Given the description of an element on the screen output the (x, y) to click on. 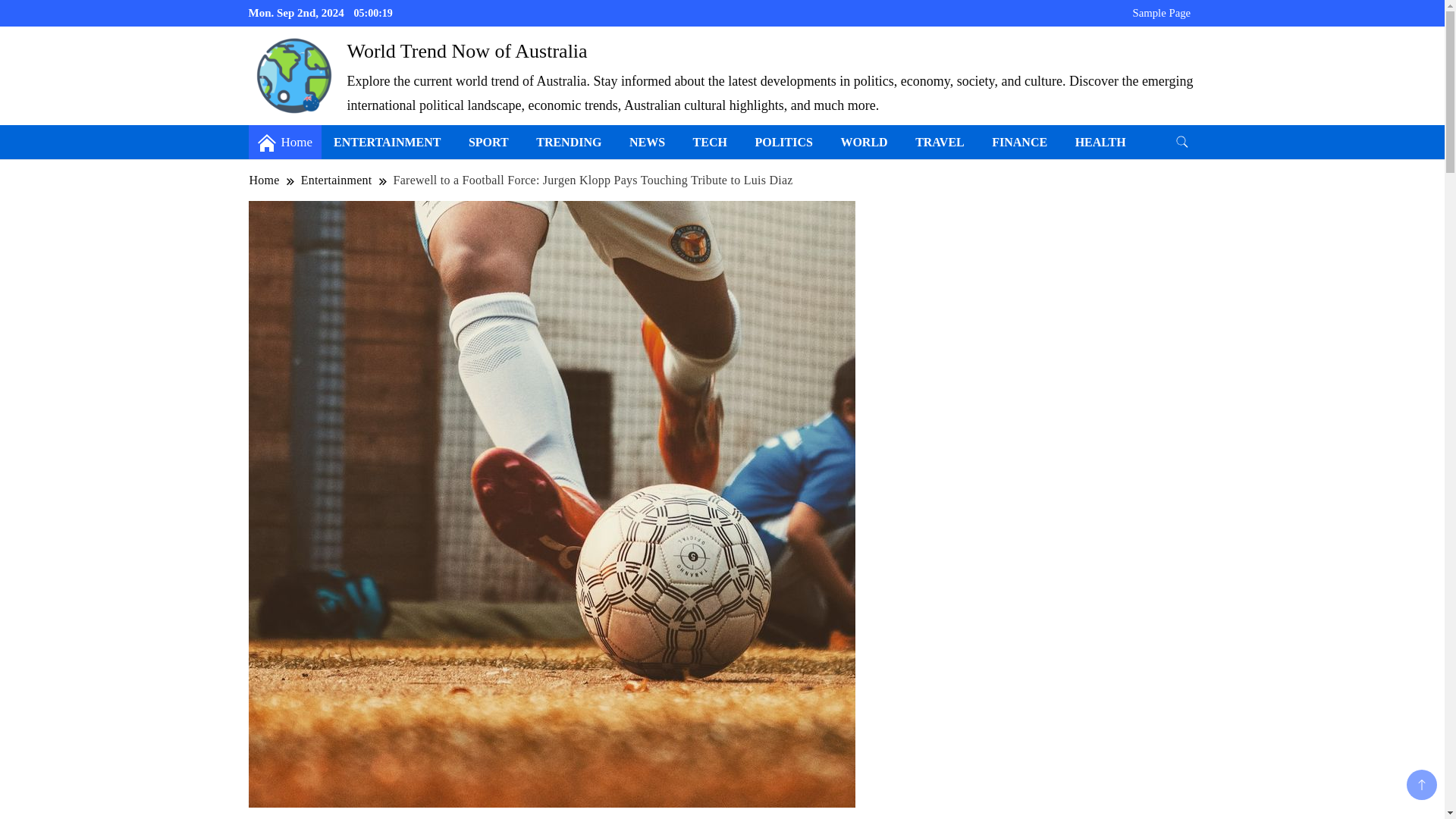
NEWS (647, 141)
SPORT (489, 141)
World Trend Now of Australia (467, 51)
Entertainment (335, 179)
TRAVEL (939, 141)
TRENDING (568, 141)
ENTERTAINMENT (386, 141)
FINANCE (1019, 141)
HEALTH (1100, 141)
TECH (710, 141)
